Given the description of an element on the screen output the (x, y) to click on. 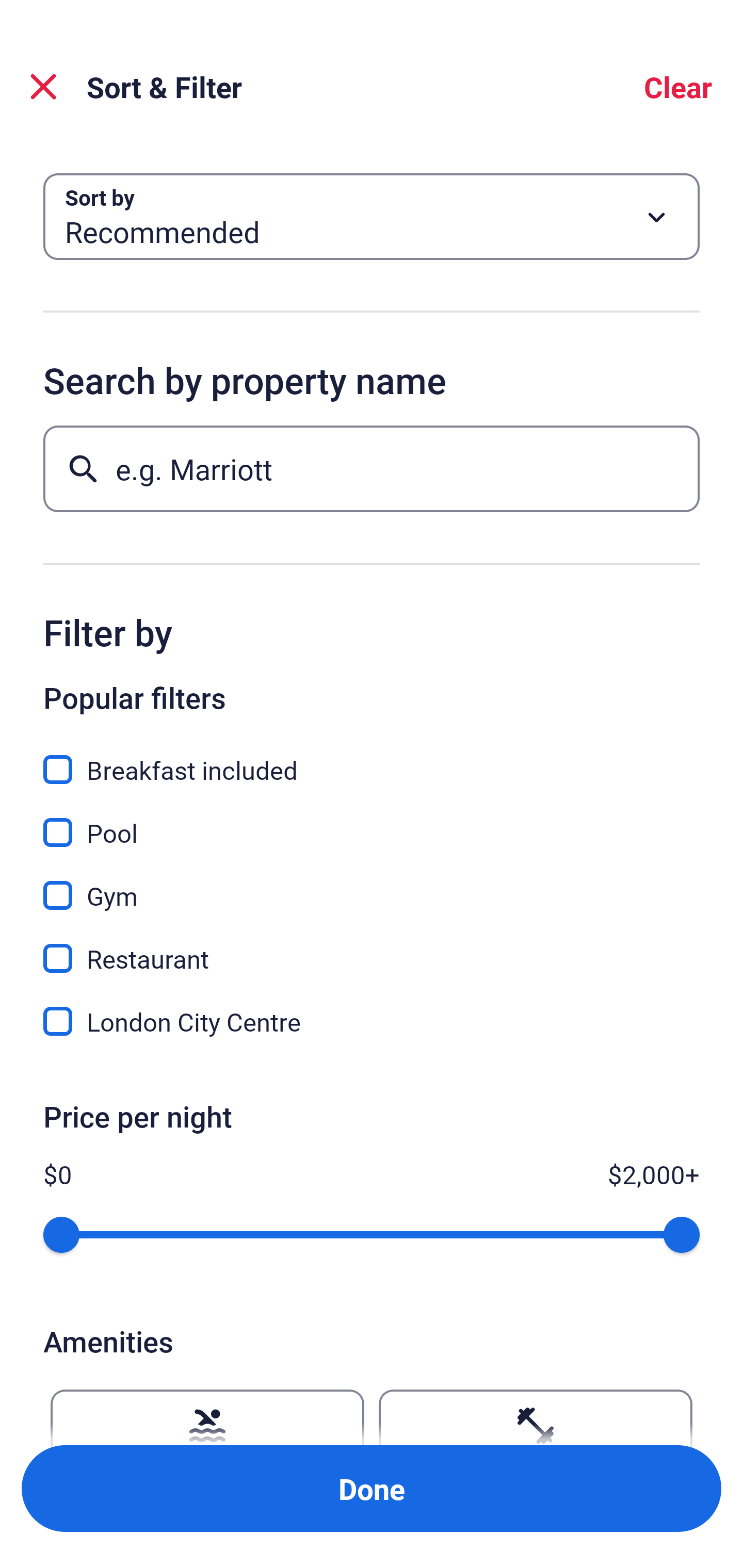
Close Sort and Filter (43, 86)
Clear (677, 86)
Sort by Button Recommended (371, 217)
e.g. Marriott Button (371, 468)
Breakfast included, Breakfast included (371, 757)
Pool, Pool (371, 821)
Gym, Gym (371, 883)
Restaurant, Restaurant (371, 946)
London City Centre, London City Centre (371, 1021)
Apply and close Sort and Filter Done (371, 1488)
